Given the description of an element on the screen output the (x, y) to click on. 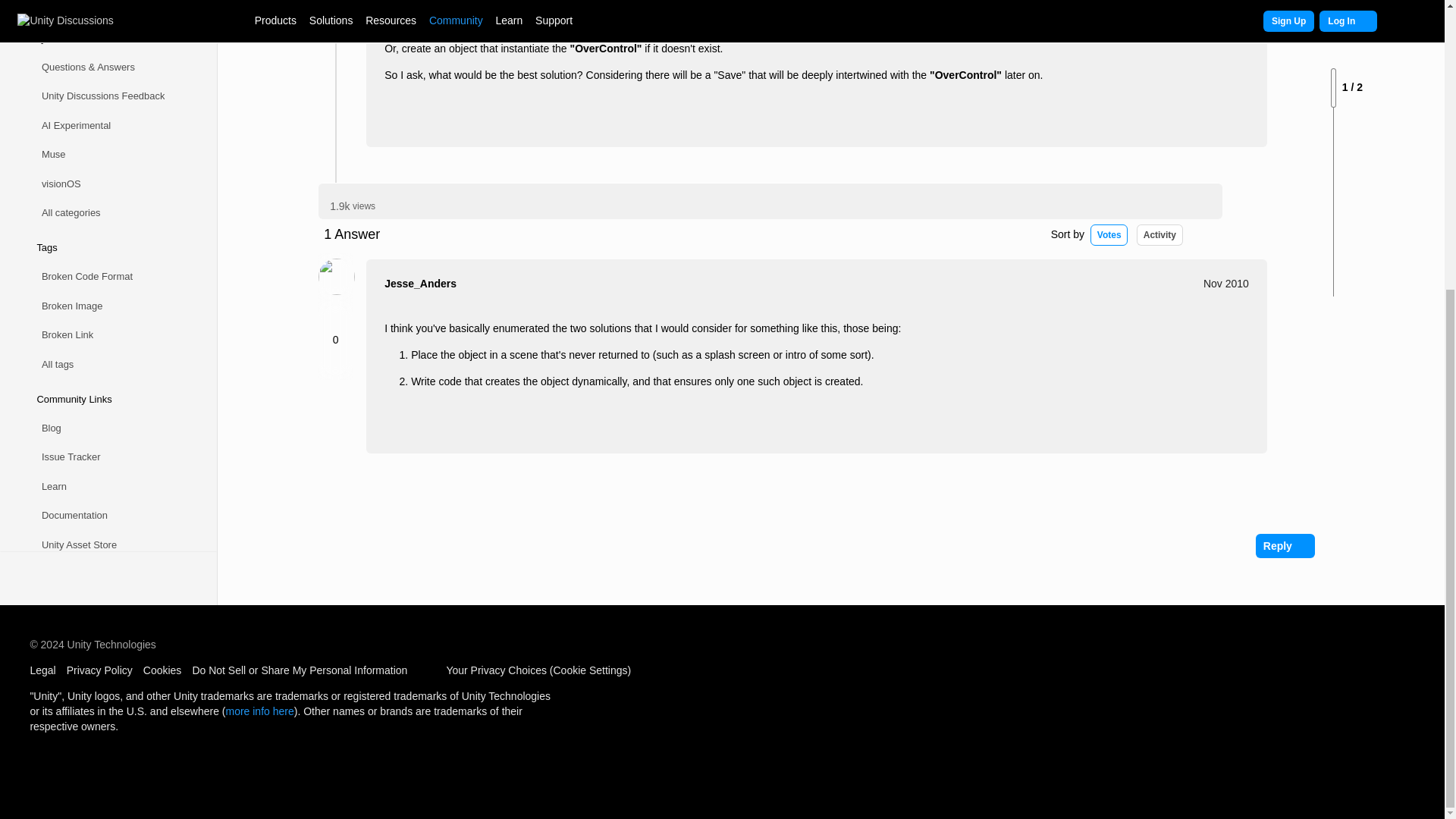
Community Links (102, 173)
User Groups (102, 348)
Issue Tracker (102, 231)
Learn (102, 260)
Keyboard Shortcuts (199, 365)
Advocates (102, 377)
X (102, 610)
Blog (102, 202)
Creator Spotlight (102, 464)
Unity Asset Store (102, 318)
Discord (102, 640)
YouTube (102, 582)
Toggle section (102, 21)
Play (102, 523)
Documentation (102, 289)
